Given the description of an element on the screen output the (x, y) to click on. 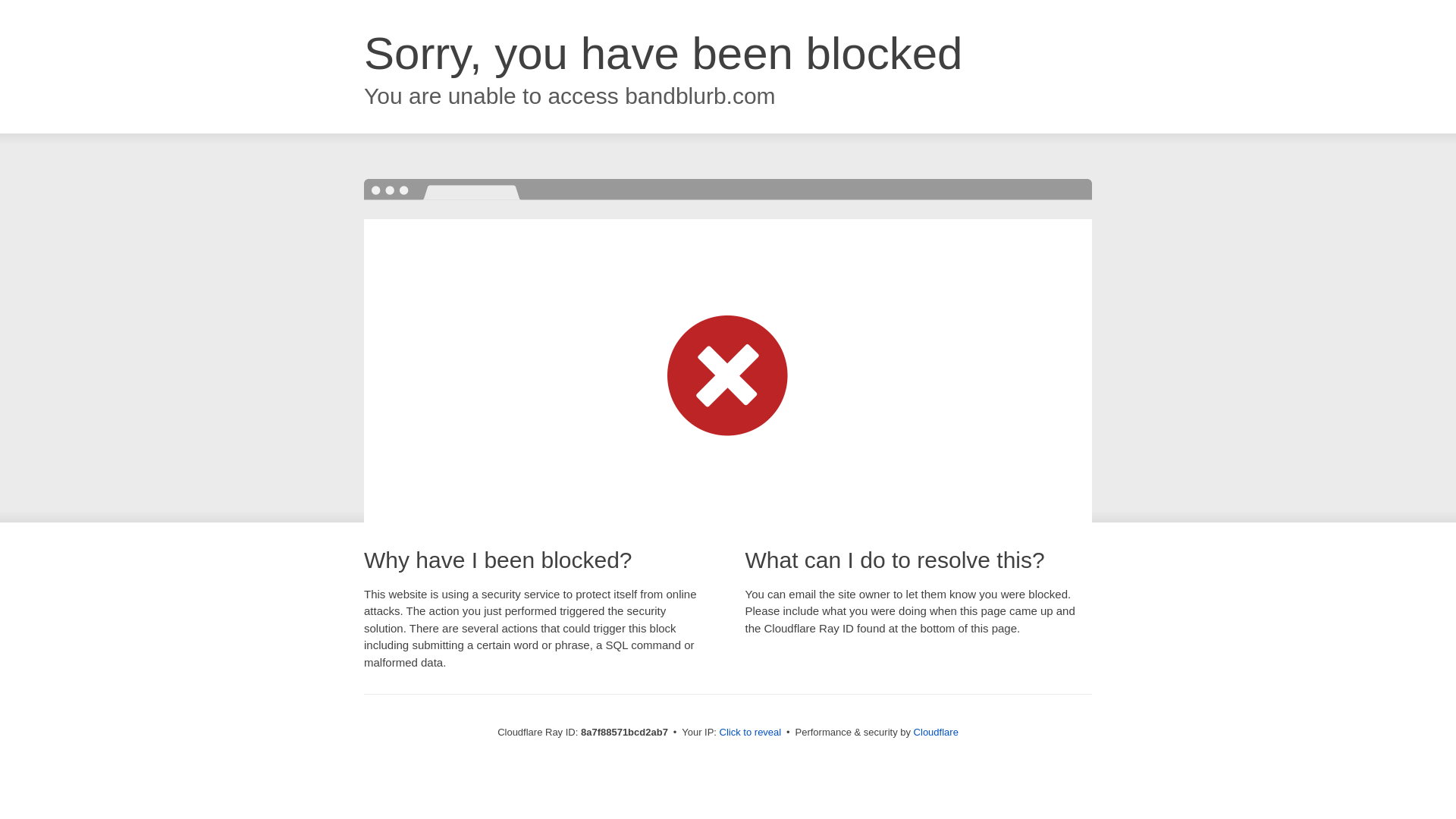
Click to reveal (750, 732)
Cloudflare (936, 731)
